Given the description of an element on the screen output the (x, y) to click on. 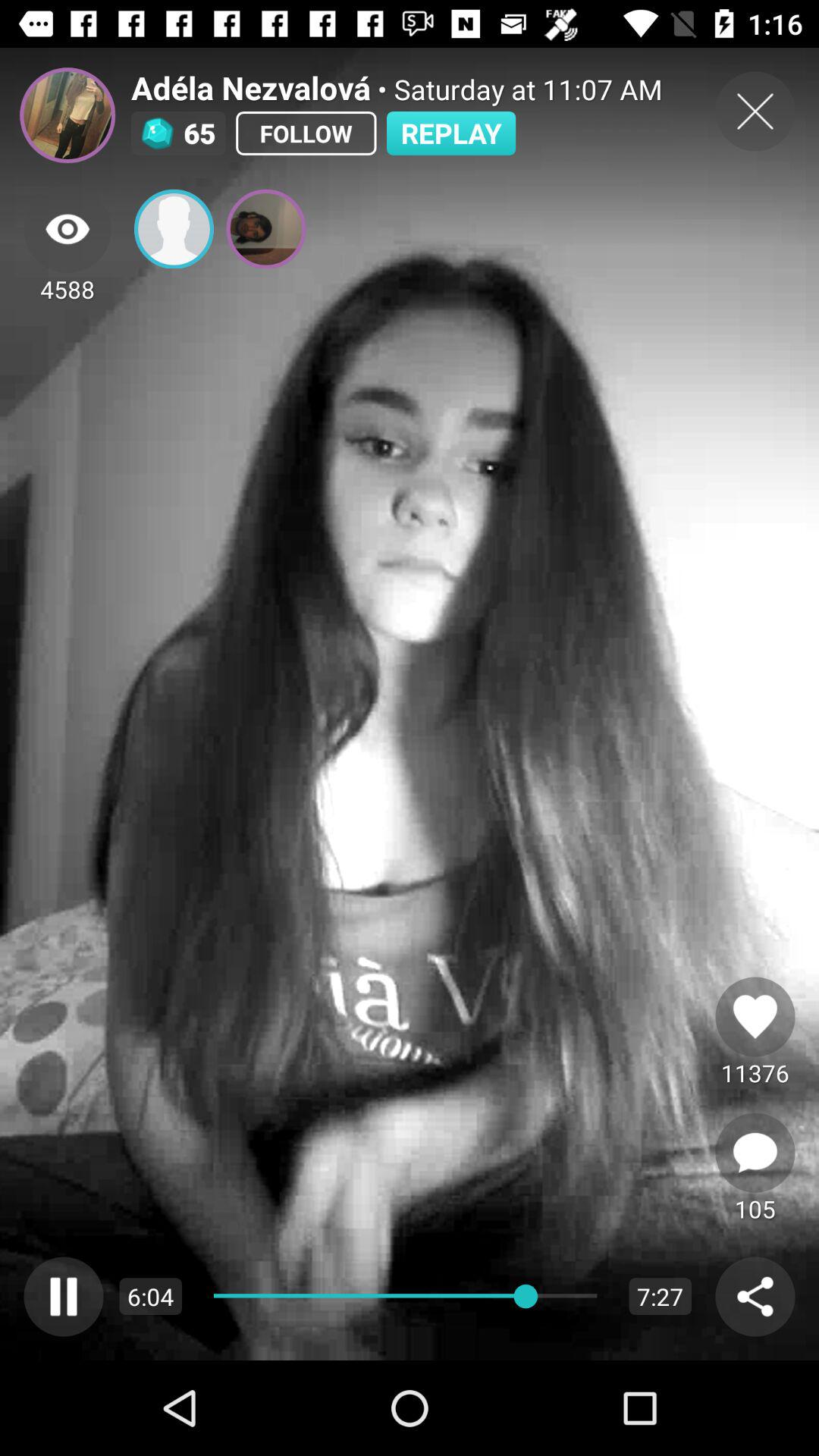
like post (755, 1016)
